Given the description of an element on the screen output the (x, y) to click on. 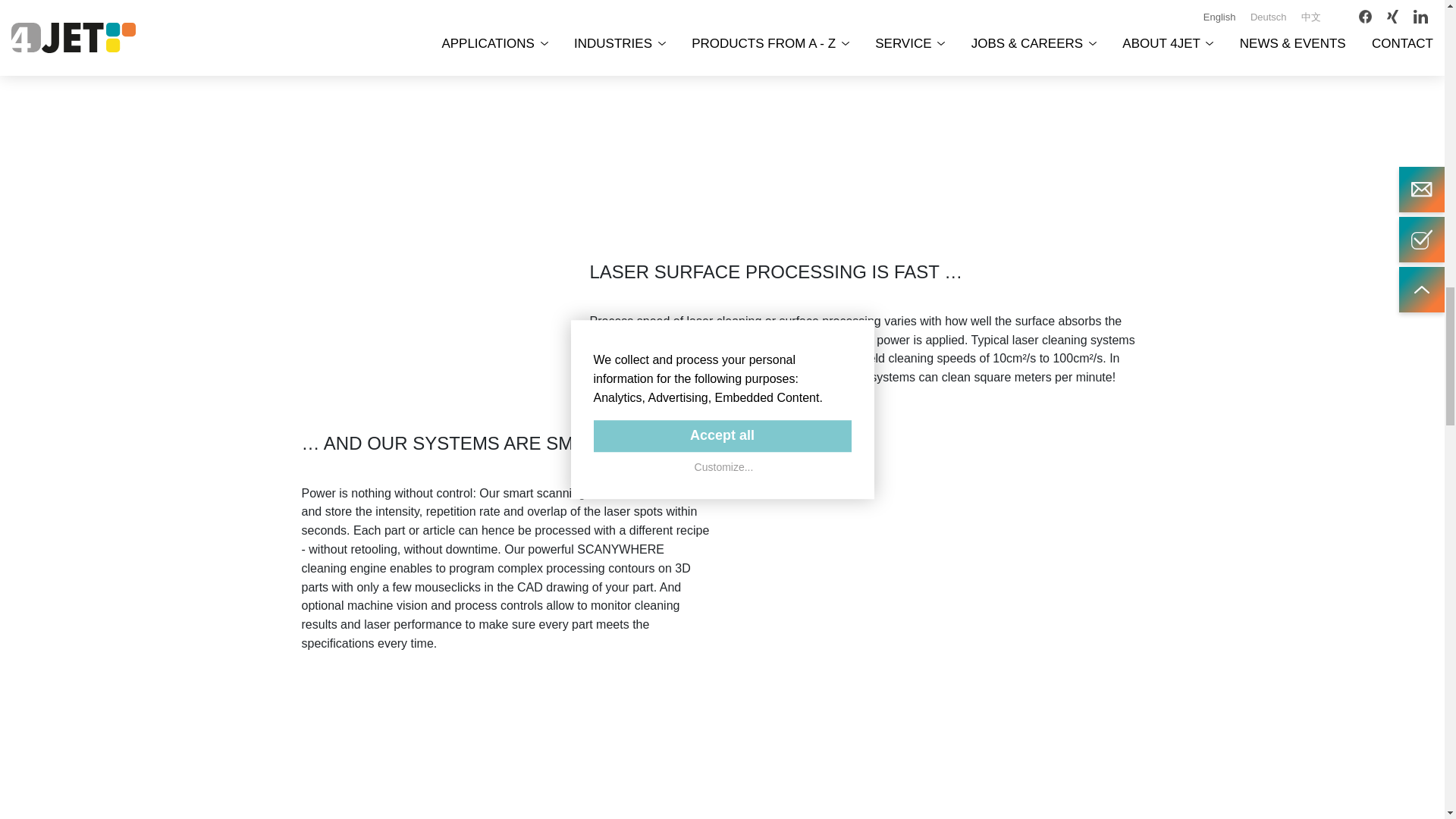
Demasking to ensure electrical conductivity in e-mobility (1009, 96)
